Given the description of an element on the screen output the (x, y) to click on. 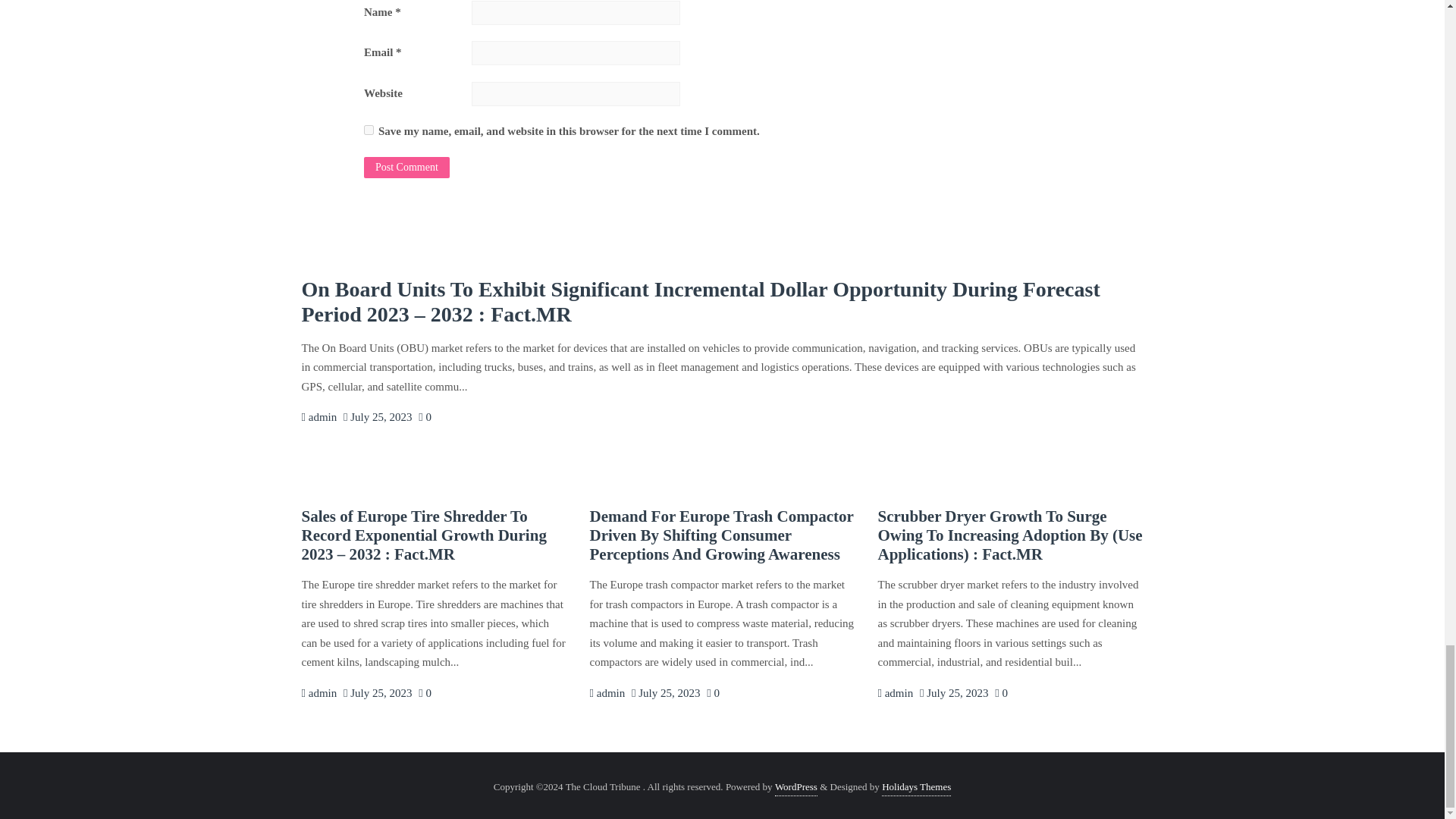
July 25, 2023 (377, 693)
admin (319, 417)
0 (424, 417)
0 (424, 693)
admin (894, 693)
admin (894, 693)
admin (606, 693)
Post Comment (406, 167)
yes (369, 130)
